Given the description of an element on the screen output the (x, y) to click on. 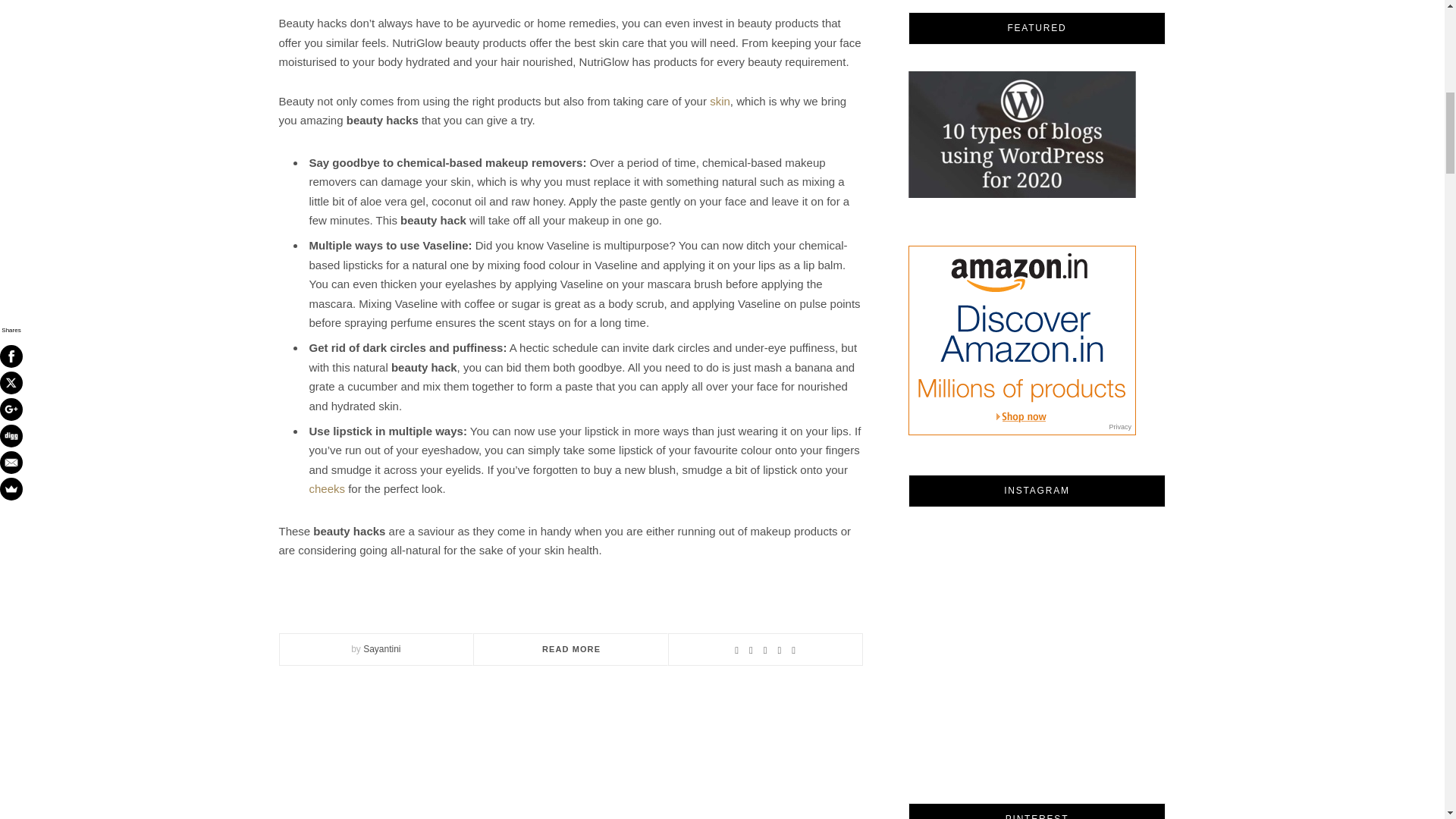
skin (720, 101)
cheeks (327, 488)
READ MORE (570, 648)
Sayantini (381, 648)
Posts by Sayantini (381, 648)
